Given the description of an element on the screen output the (x, y) to click on. 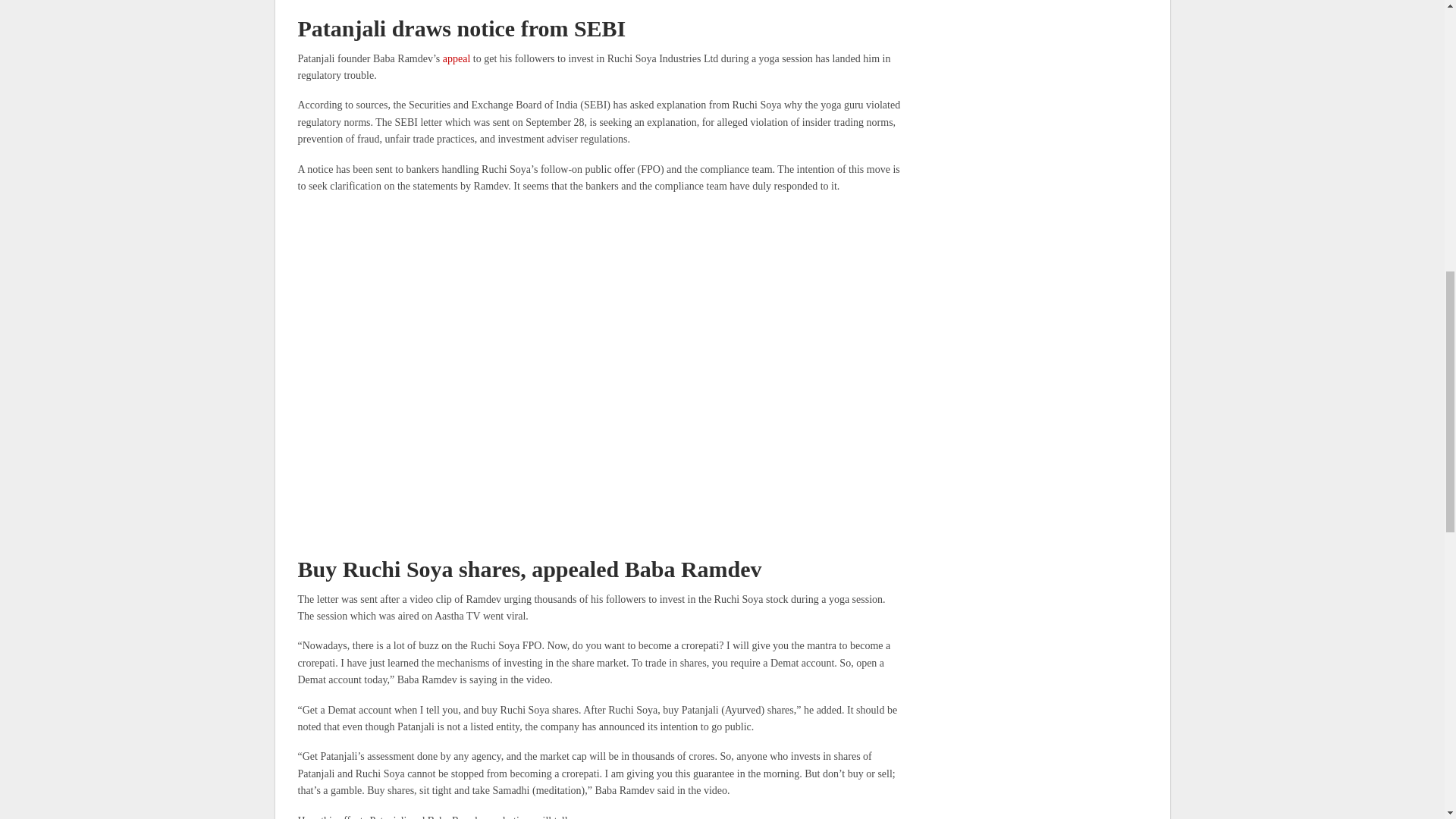
appeal (457, 58)
